Given the description of an element on the screen output the (x, y) to click on. 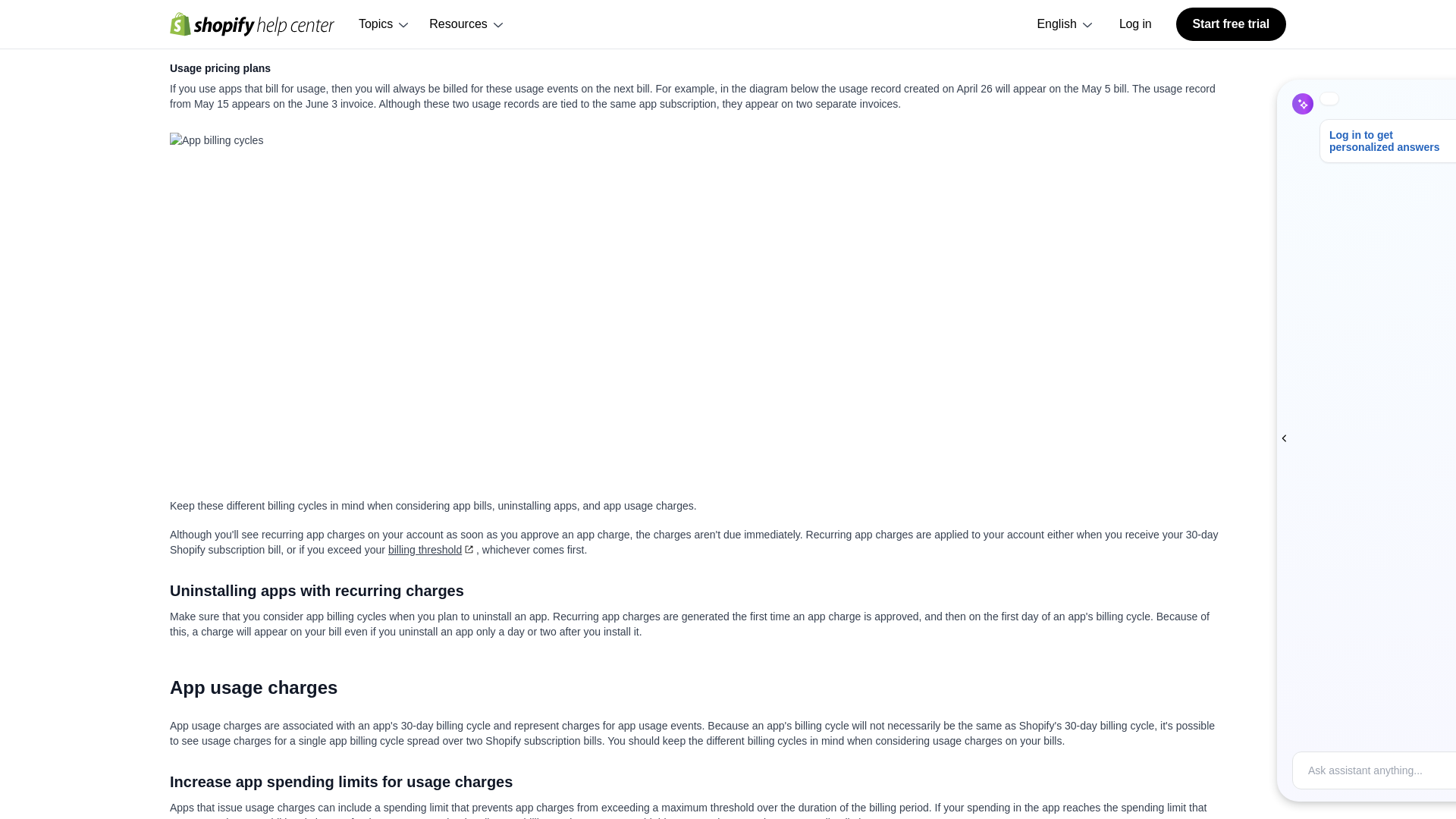
uninstalling any third-party apps (631, 37)
Pause and Build plan (386, 37)
billing threshold (432, 549)
